Given the description of an element on the screen output the (x, y) to click on. 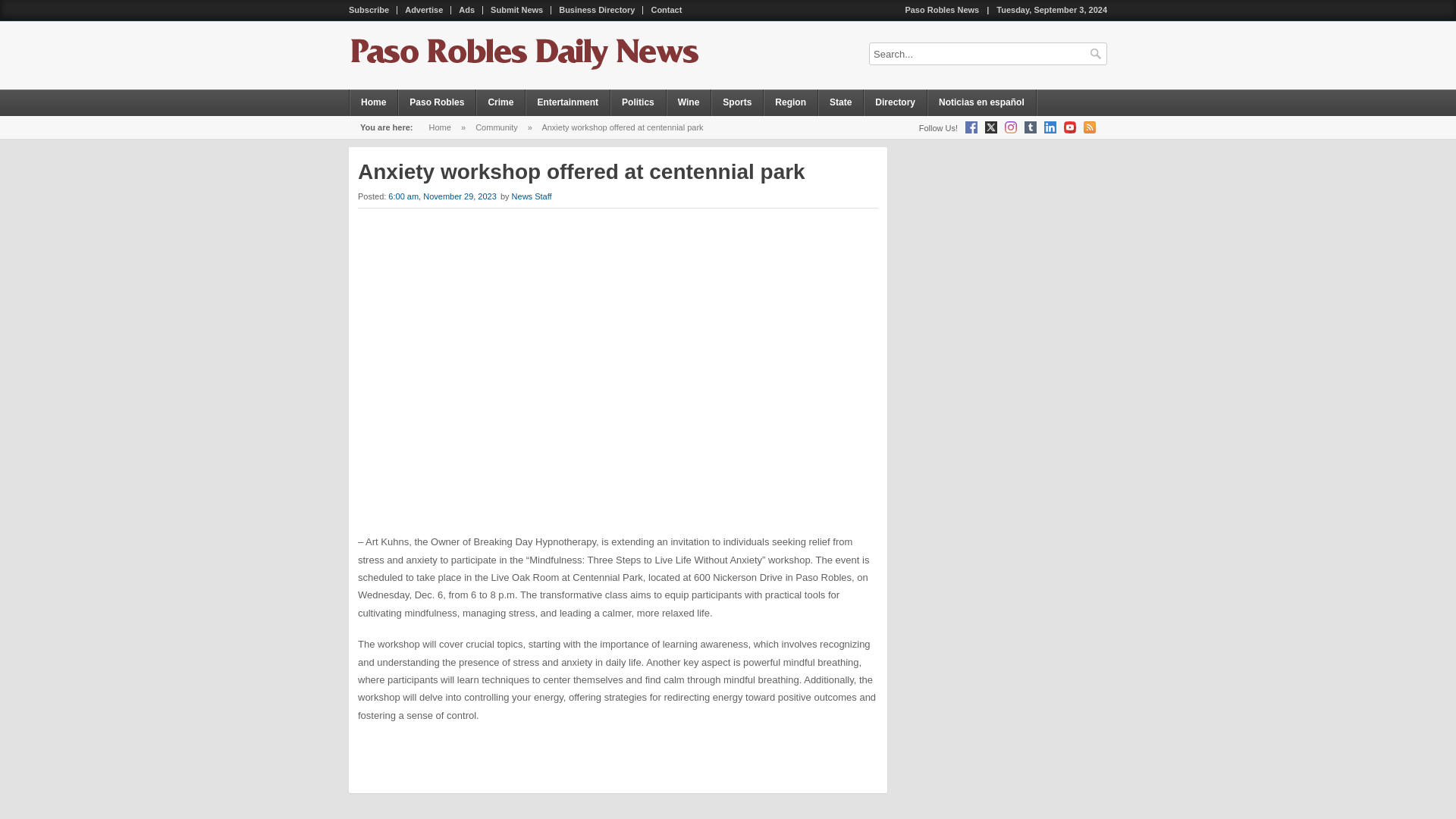
Advertise (424, 9)
Follow Us on Facebook (970, 127)
Search... (987, 53)
Directory (895, 102)
Submit News (517, 9)
Home (440, 126)
Contact (665, 9)
Follow Us on Linked In (1050, 127)
6:00 am (442, 195)
Follow Us on Tumblr (1030, 127)
